Given the description of an element on the screen output the (x, y) to click on. 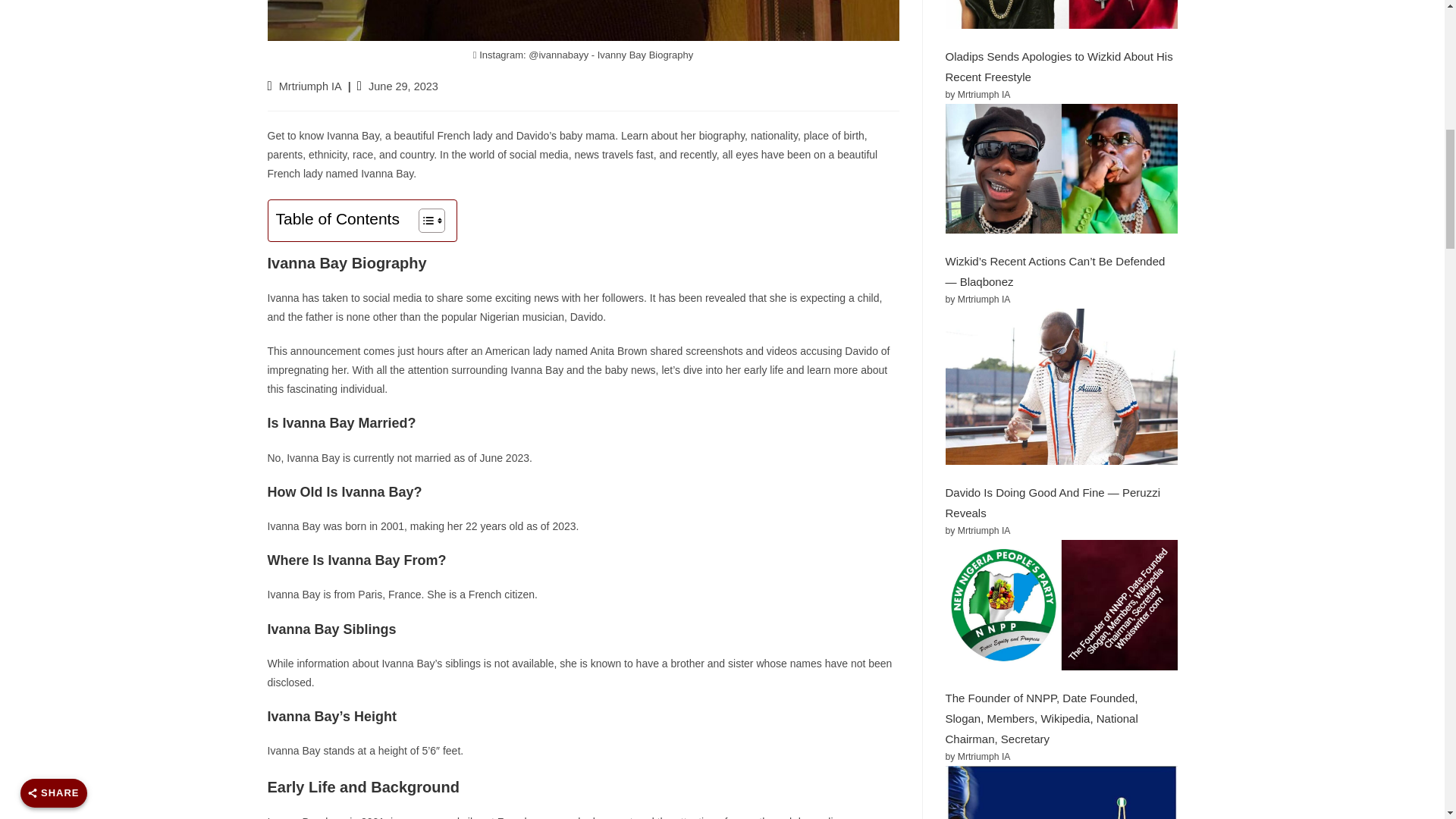
Mrtriumph IA (310, 86)
Posts by Mrtriumph IA (310, 86)
